Given the description of an element on the screen output the (x, y) to click on. 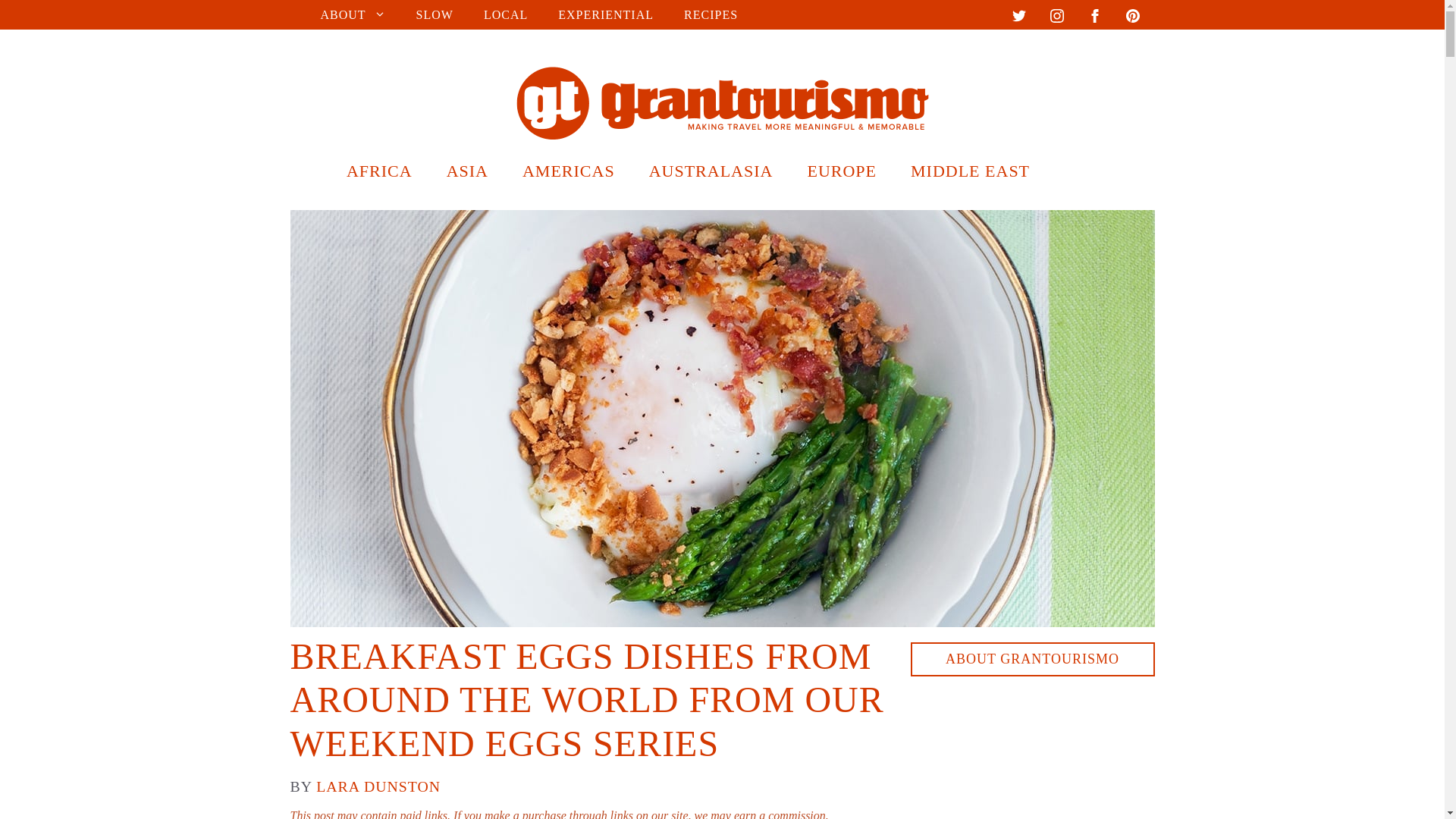
SLOW (434, 14)
LOCAL (505, 14)
LOCAL (505, 14)
Check us out on Pinterest (1131, 18)
ABOUT (352, 14)
Check us out on Facebook (1093, 18)
EXPERIENTIAL (605, 14)
SLOW (434, 14)
Check us out on Twitter (1018, 18)
Check us out on Instagram (1055, 18)
